Given the description of an element on the screen output the (x, y) to click on. 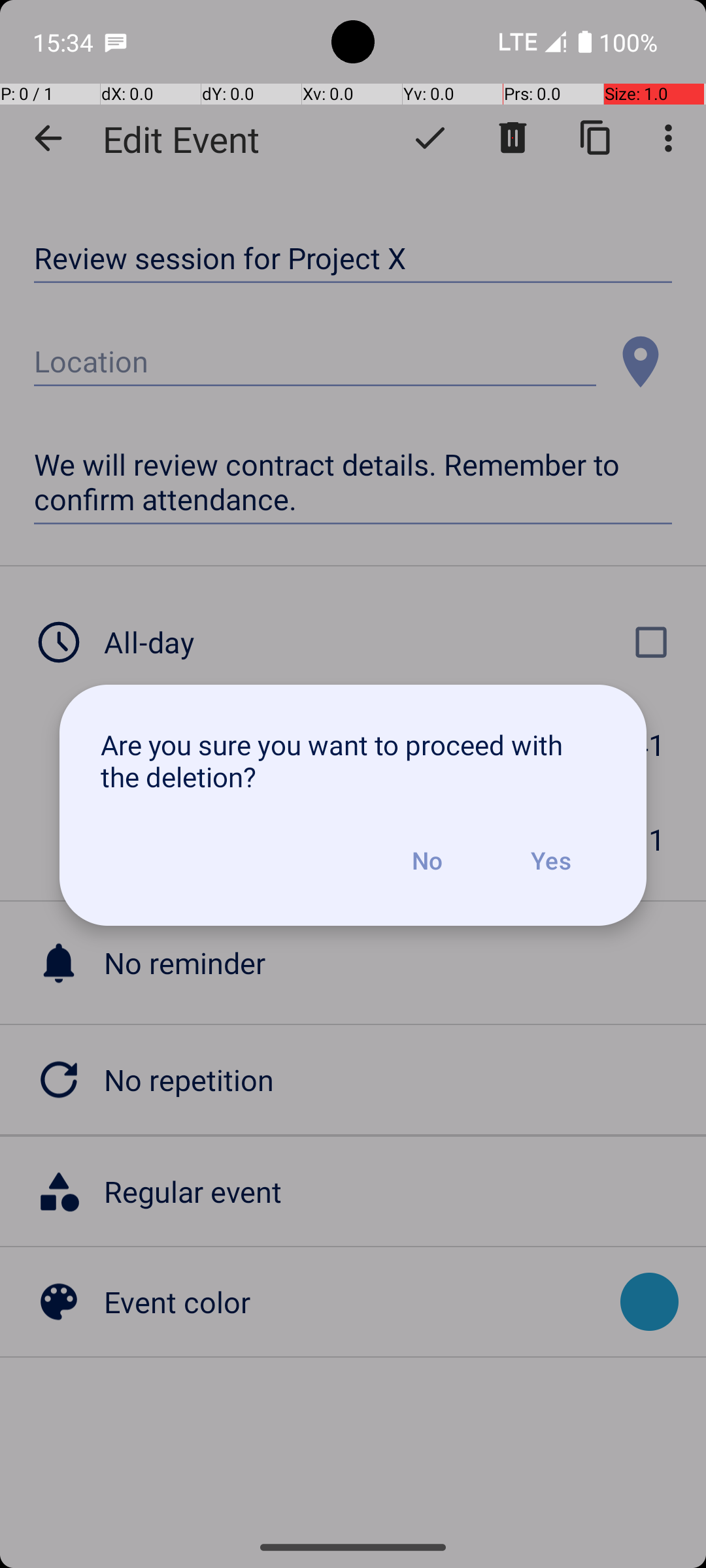
Are you sure you want to proceed with the deletion? Element type: android.widget.TextView (352, 760)
No Element type: android.widget.Button (426, 860)
Yes Element type: android.widget.Button (550, 860)
